Given the description of an element on the screen output the (x, y) to click on. 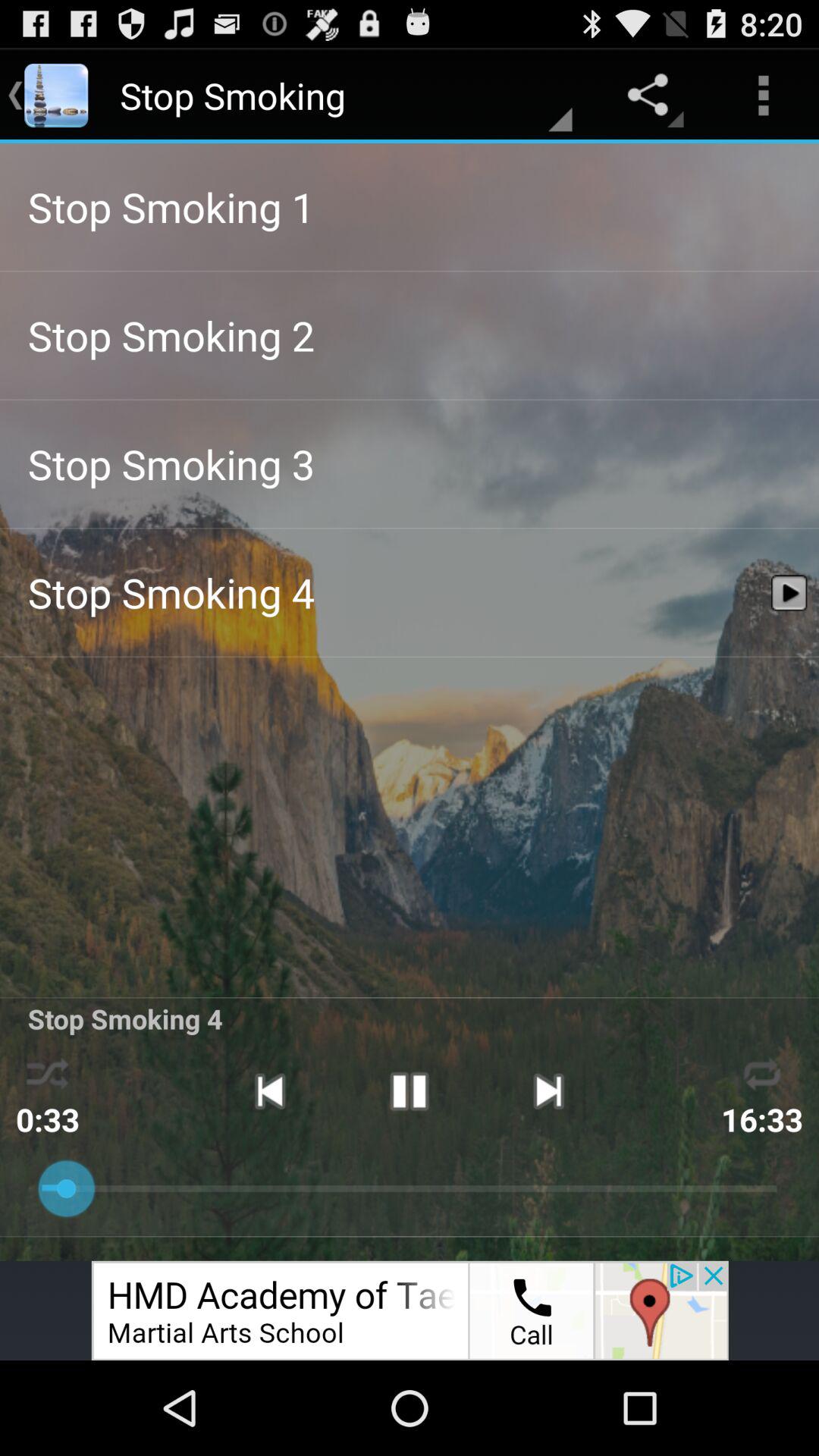
space where you access advertising (409, 1310)
